Given the description of an element on the screen output the (x, y) to click on. 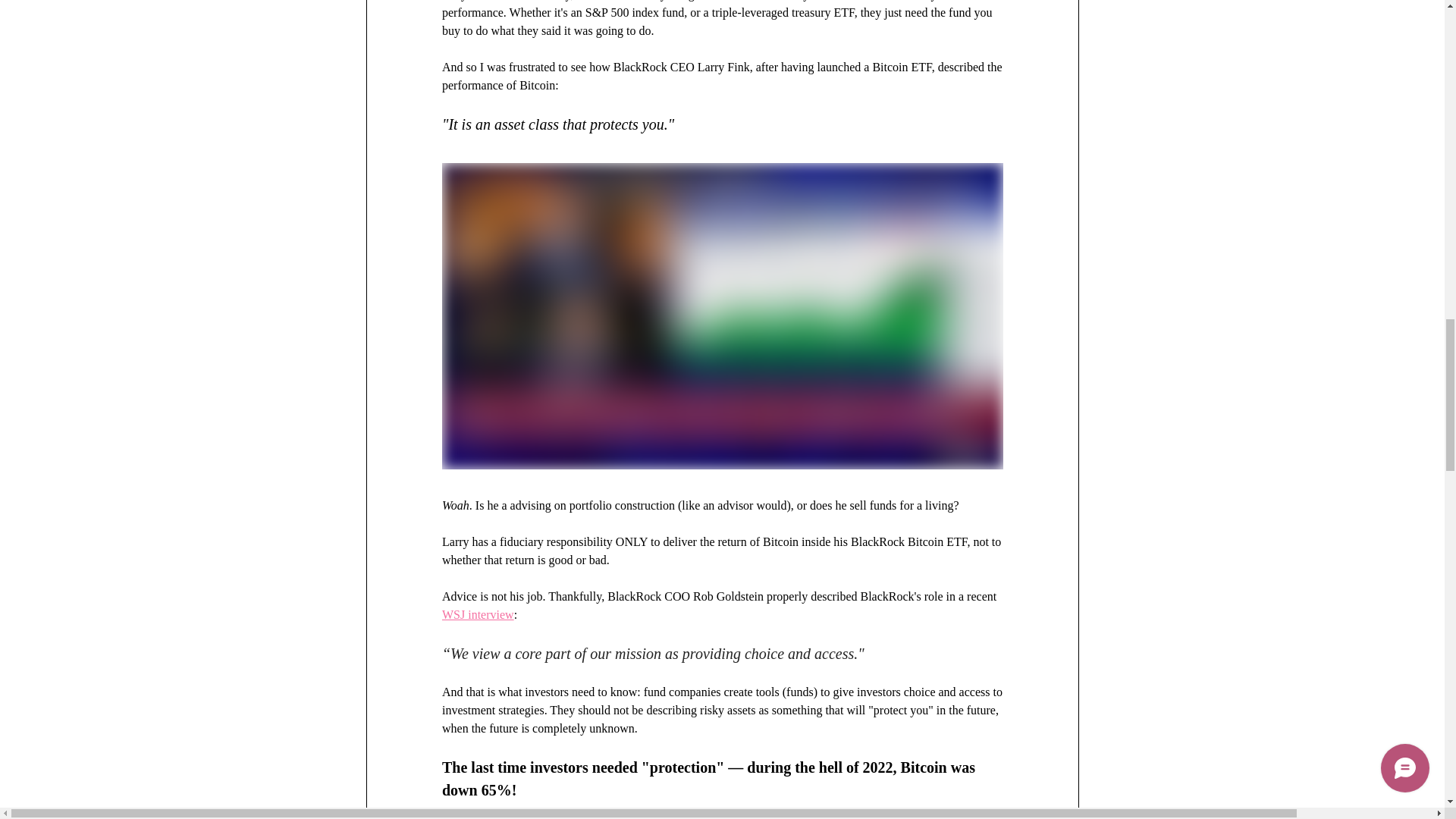
WSJ interview (477, 614)
